Given the description of an element on the screen output the (x, y) to click on. 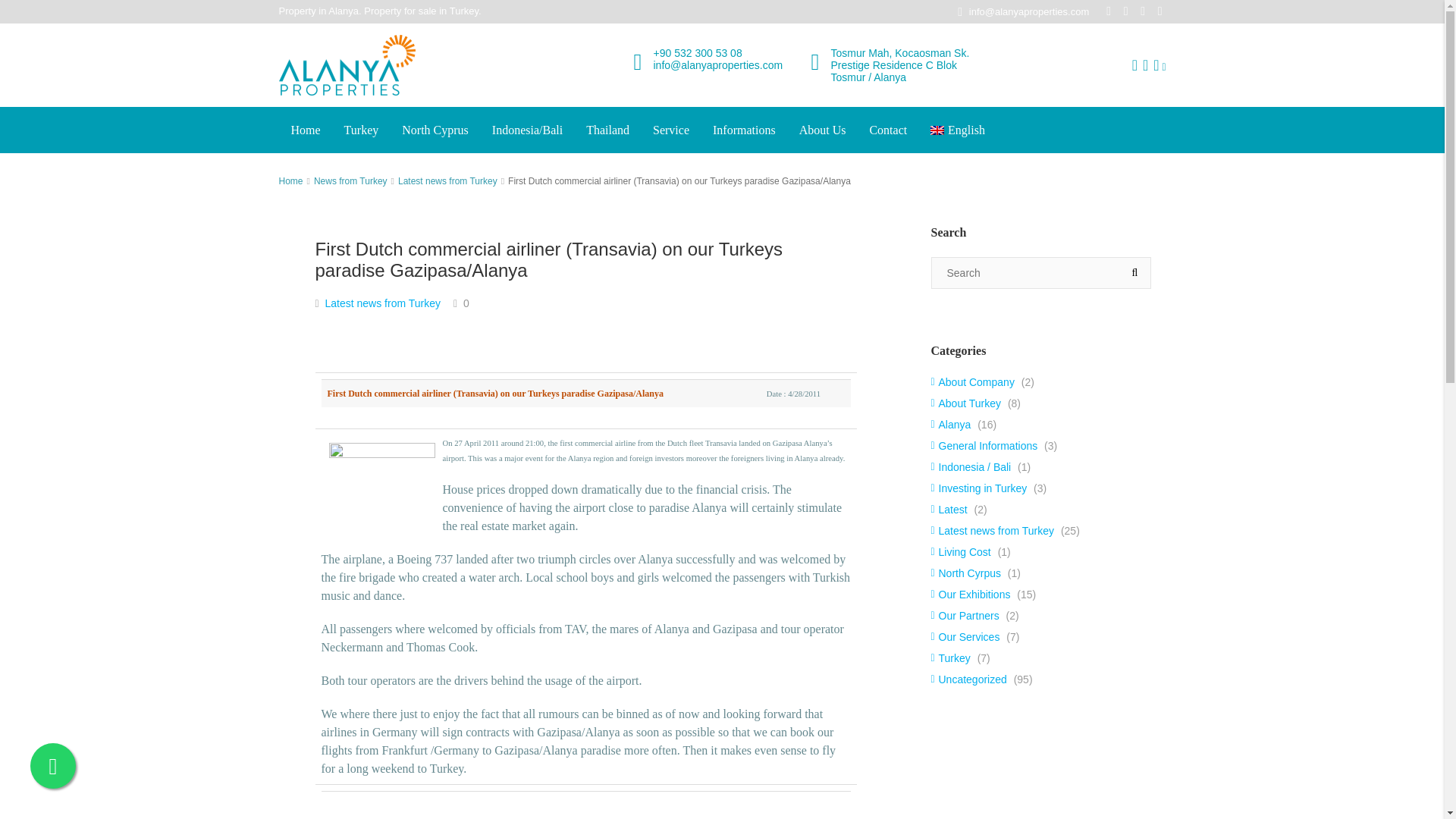
Home (305, 130)
Turkey (361, 130)
Thailand (607, 130)
Service (671, 130)
North Cyprus (435, 130)
English (956, 130)
